Given the description of an element on the screen output the (x, y) to click on. 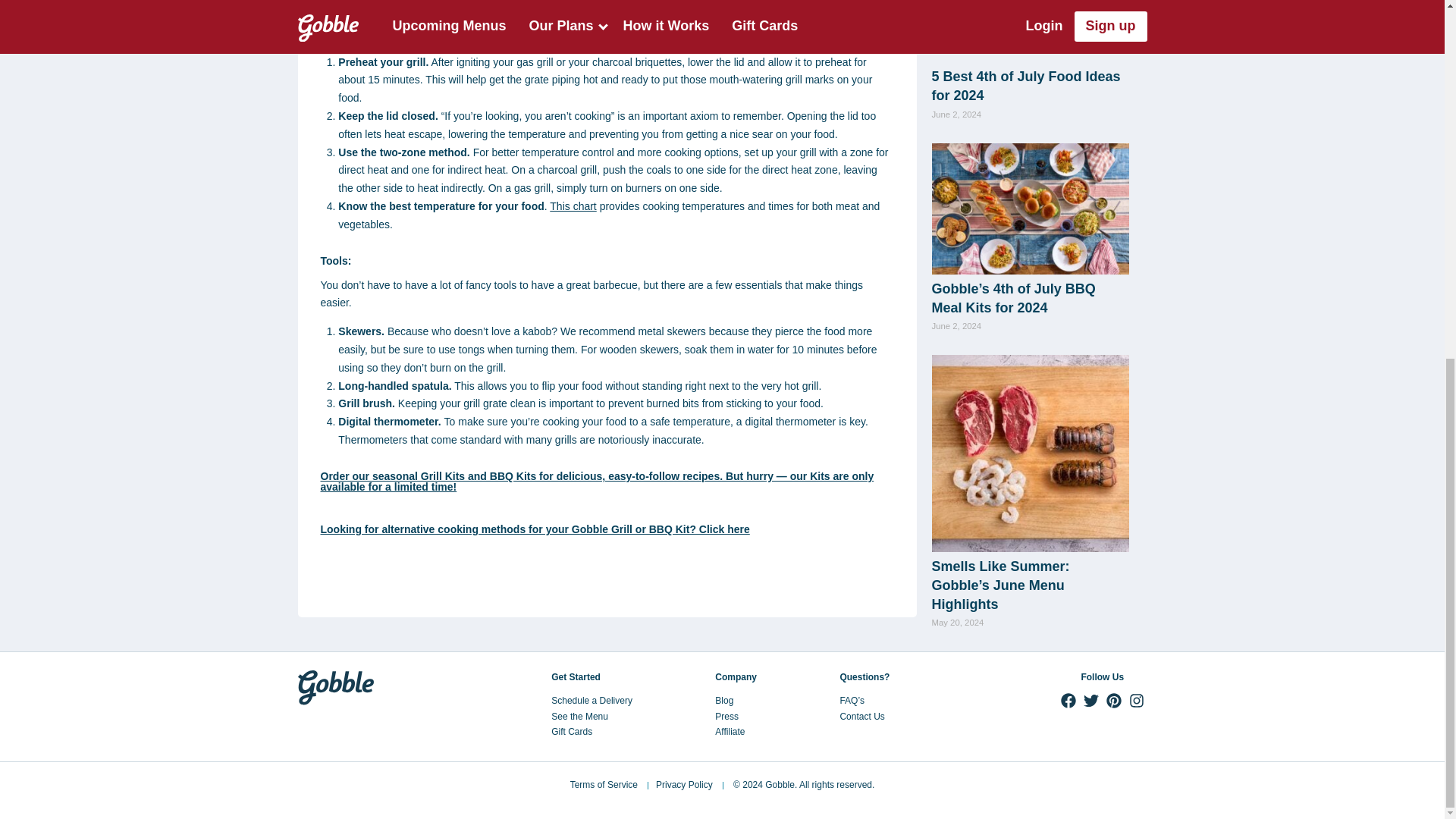
Affiliate (729, 731)
This chart (572, 205)
Schedule a Delivery (591, 700)
Privacy Policy (684, 784)
See the Menu (579, 716)
Press (726, 716)
Gift Cards (571, 731)
5 Best 4th of July Food Ideas for 2024 (1025, 85)
Blog (723, 700)
Terms of Service (603, 784)
Contact Us (861, 716)
